Given the description of an element on the screen output the (x, y) to click on. 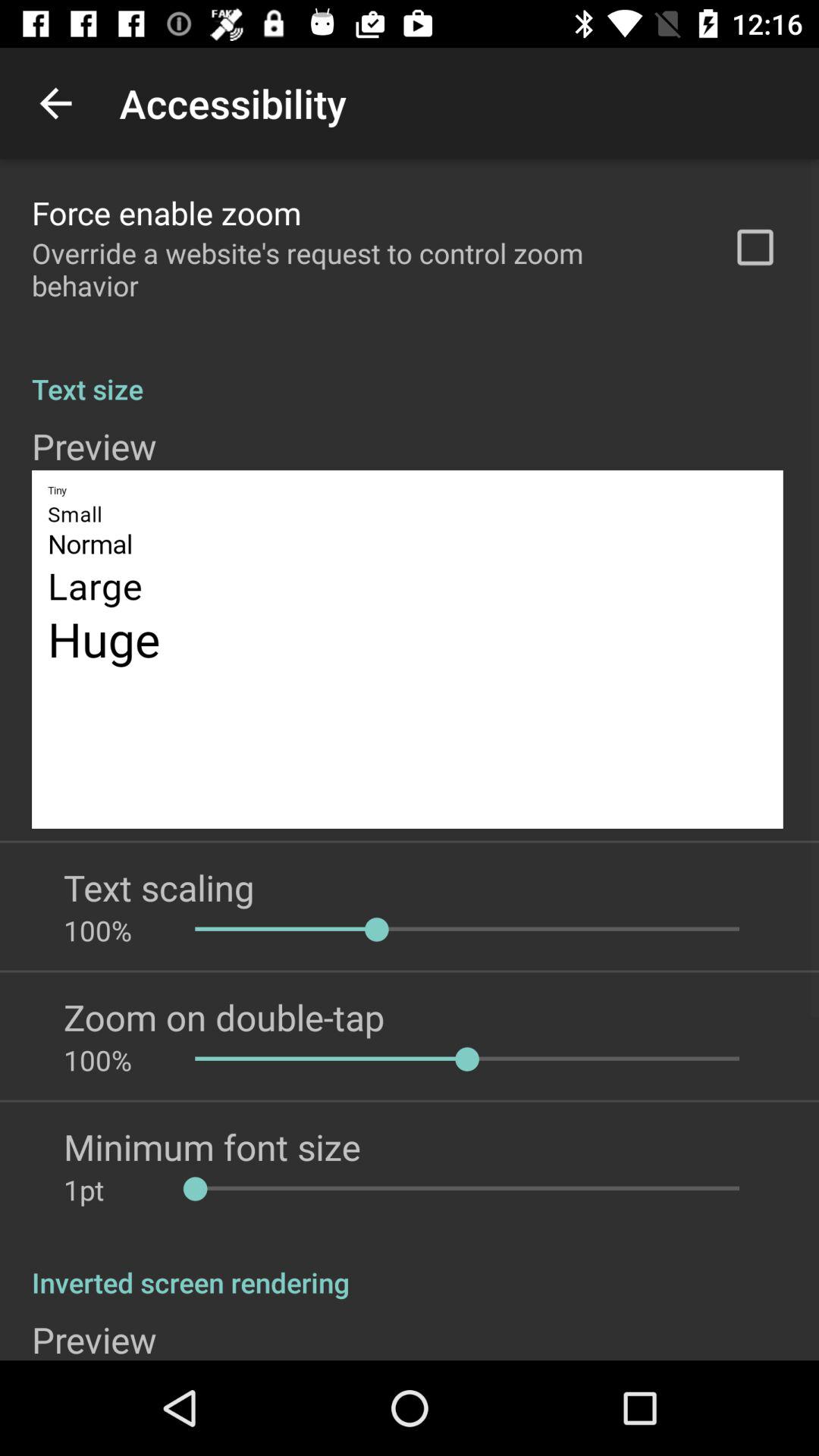
press text size app (409, 372)
